Given the description of an element on the screen output the (x, y) to click on. 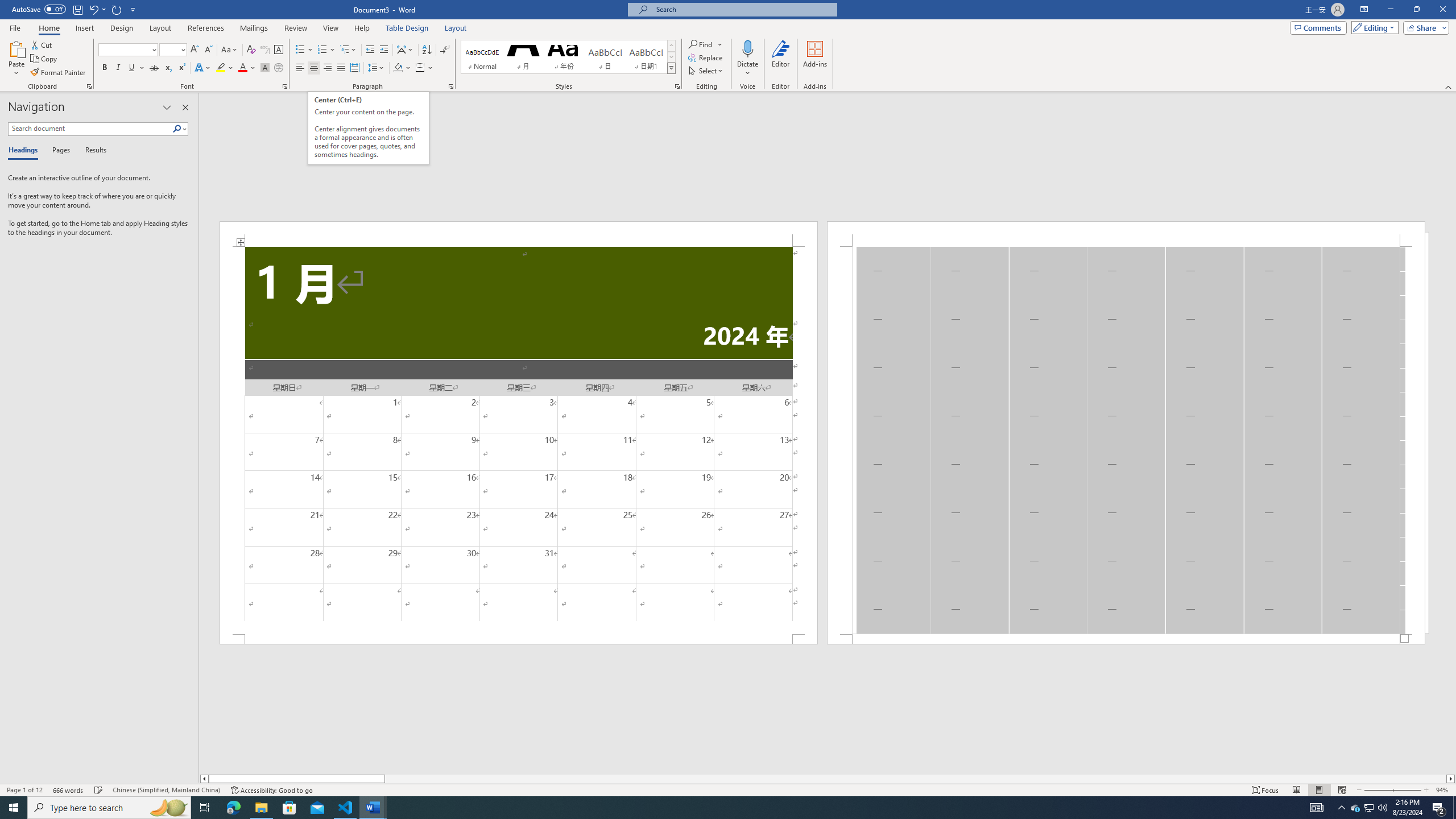
Spelling and Grammar Check Checking (98, 790)
Repeat Doc Close (117, 9)
Undo Apply Quick Style (96, 9)
Distributed (354, 67)
Font... (285, 85)
Text Highlight Color (224, 67)
Enclose Characters... (278, 67)
Page Number Page 1 of 12 (24, 790)
Microsoft search (742, 9)
Subscript (167, 67)
